Given the description of an element on the screen output the (x, y) to click on. 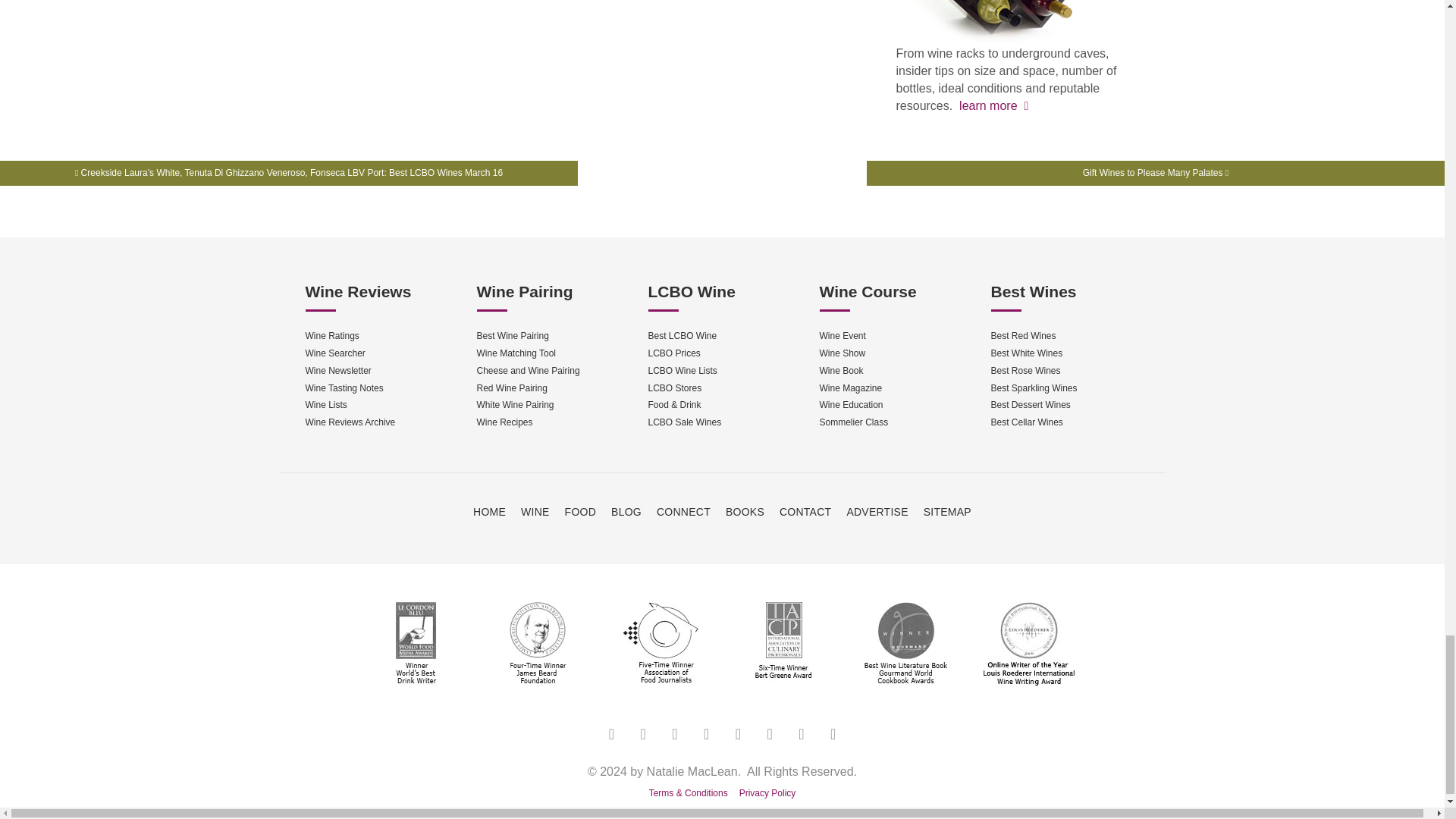
How to start a wine cellar (989, 105)
